Given the description of an element on the screen output the (x, y) to click on. 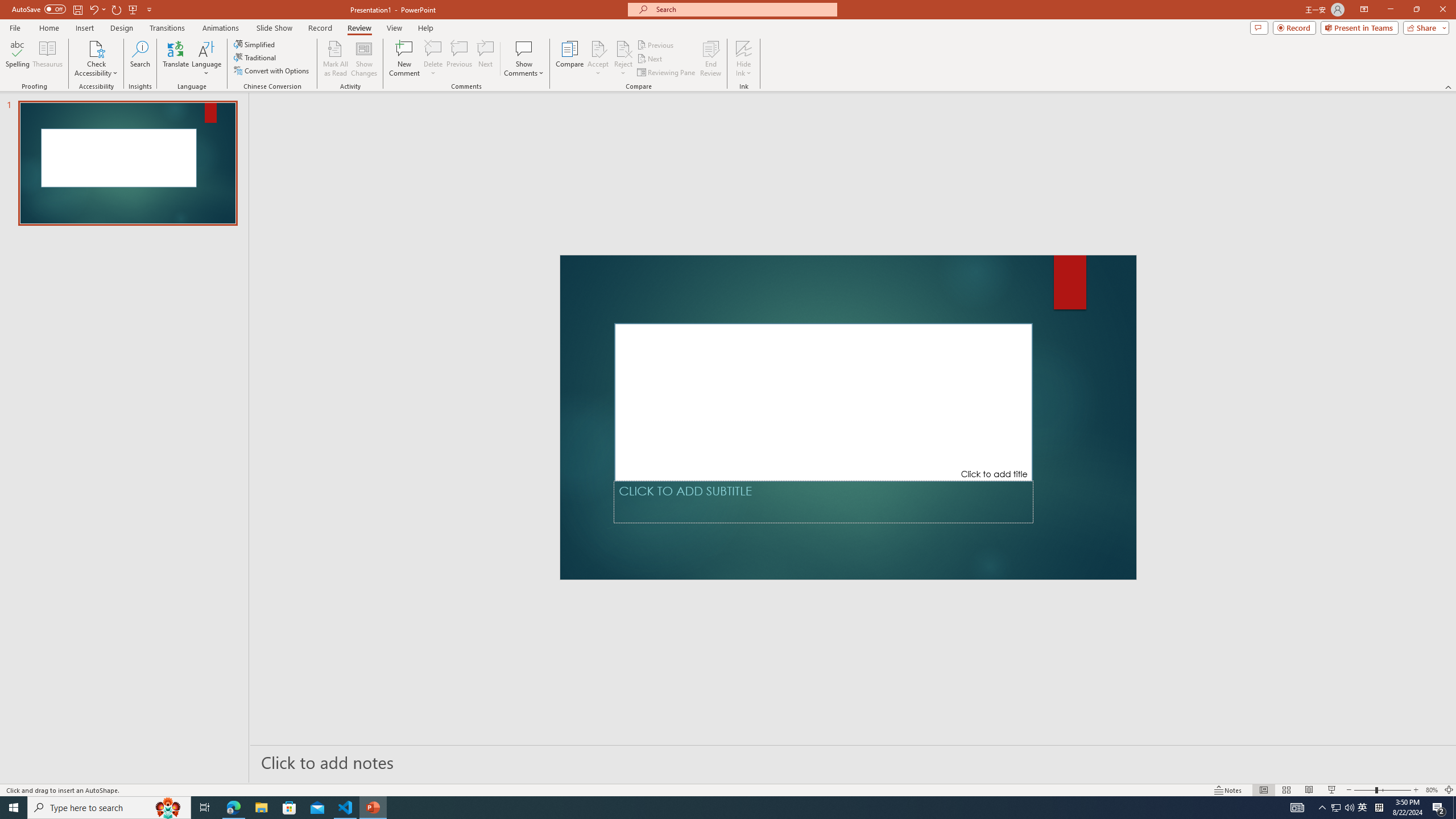
Subtitle TextBox (822, 501)
Zoom (1382, 790)
Minimize (1390, 9)
Class: MsoCommandBar (728, 789)
From Beginning (133, 9)
Quick Access Toolbar (82, 9)
Delete (432, 58)
Reviewing Pane (666, 72)
Check Accessibility (95, 48)
Slide Sorter (1286, 790)
Notes  (1227, 790)
Zoom In (1415, 790)
AutoSave (38, 9)
